Given the description of an element on the screen output the (x, y) to click on. 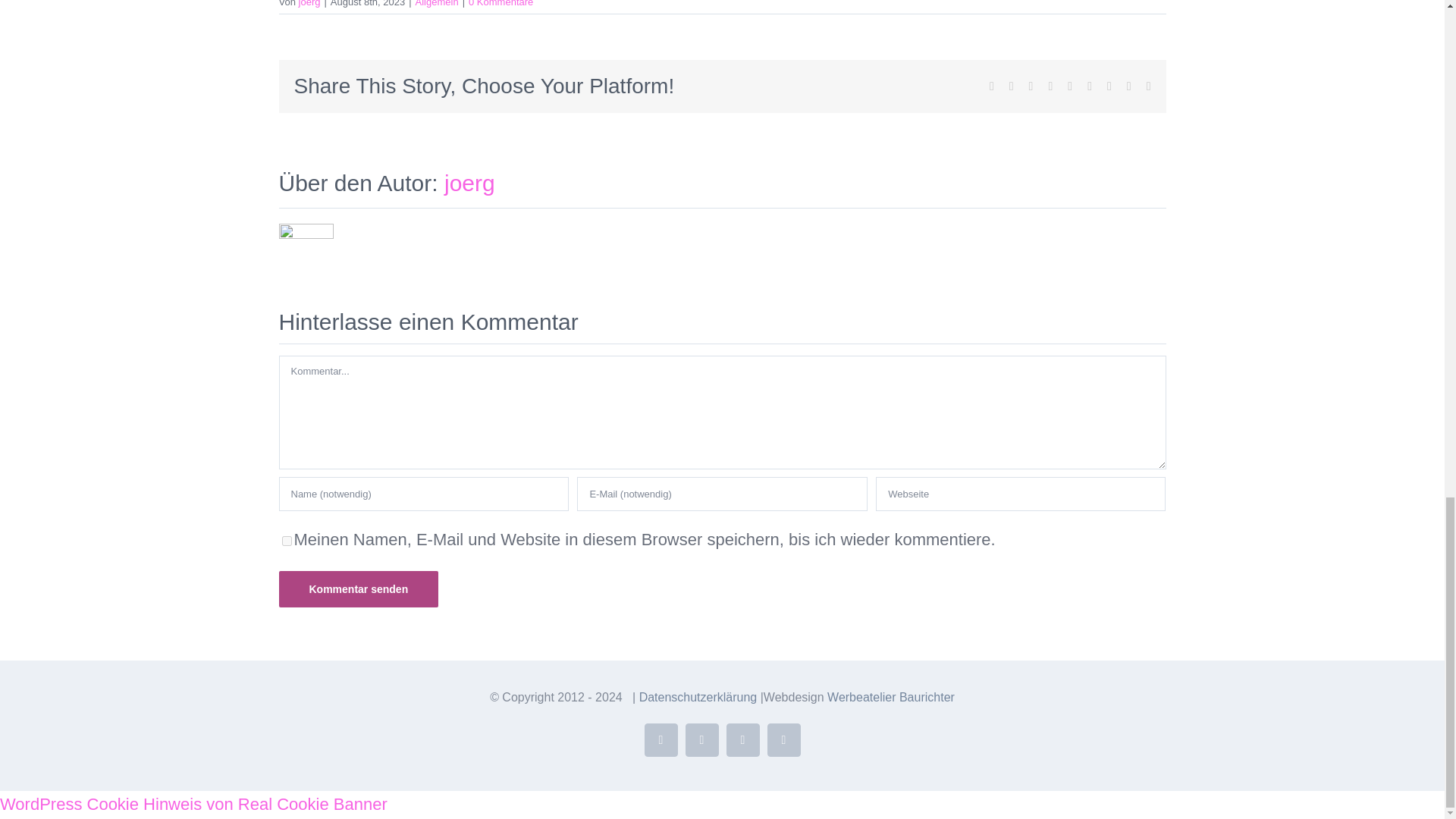
joerg (309, 3)
joerg (469, 182)
yes (287, 541)
Werbeatelier Baurichter (891, 697)
Twitter (702, 739)
WordPress Cookie Hinweis von Real Cookie Banner (193, 804)
Facebook (661, 739)
Allgemein (436, 3)
Kommentar senden (359, 588)
0 Kommentare (500, 3)
